Given the description of an element on the screen output the (x, y) to click on. 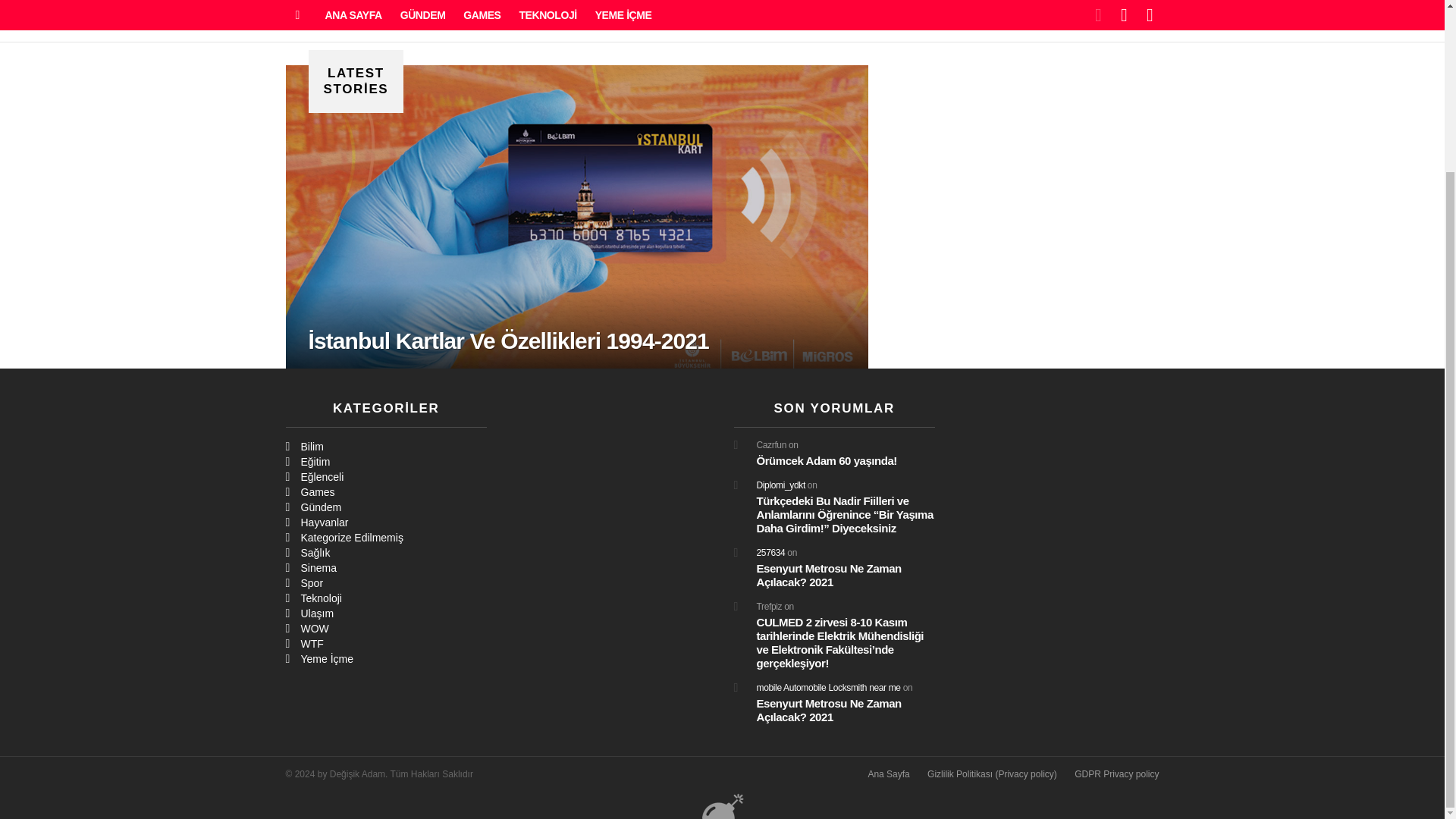
Teknoloji (385, 598)
Bilim (385, 446)
Hayvanlar (385, 522)
Sinema (385, 567)
Games (385, 491)
Spor (385, 582)
